Given the description of an element on the screen output the (x, y) to click on. 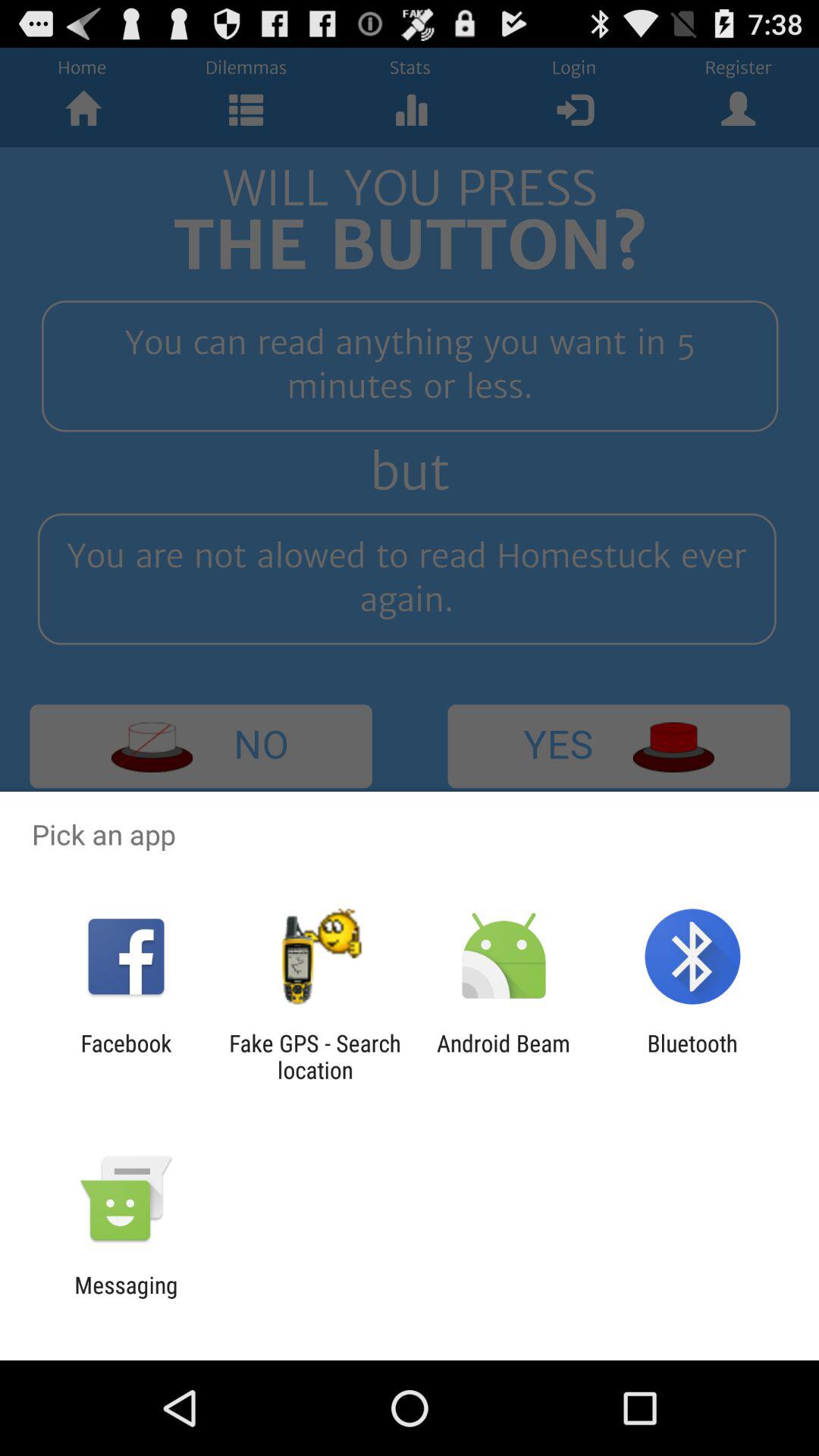
turn on the app next to the fake gps search (125, 1056)
